Given the description of an element on the screen output the (x, y) to click on. 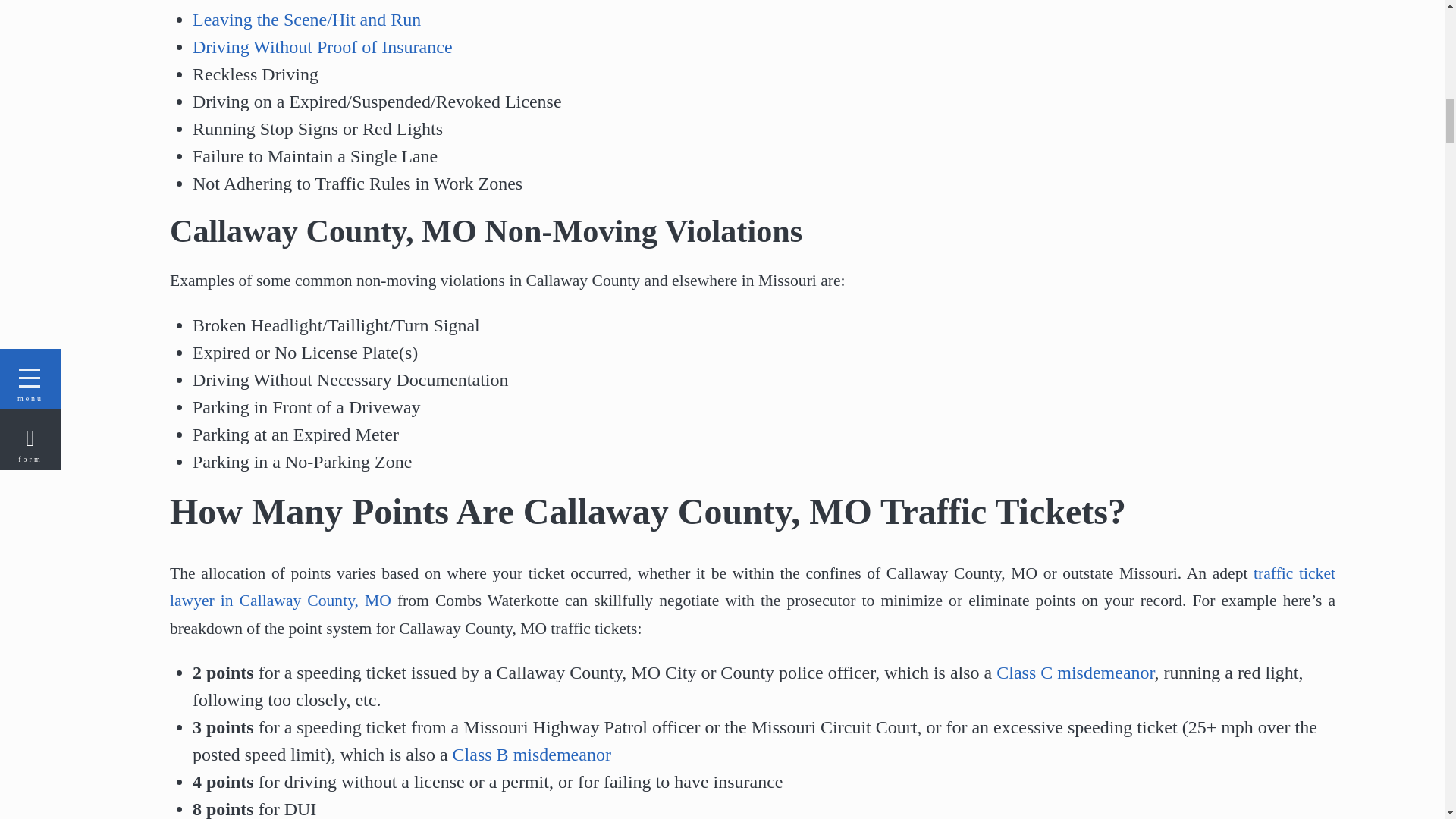
Class B misdemeanor (531, 754)
Traffic Ticket Lawyer - mo.gov (322, 46)
traffic ticket lawyer in Callaway County, MO (752, 587)
Class C misdemeanor (1074, 672)
Driving Without Proof of Insurance (322, 46)
